Given the description of an element on the screen output the (x, y) to click on. 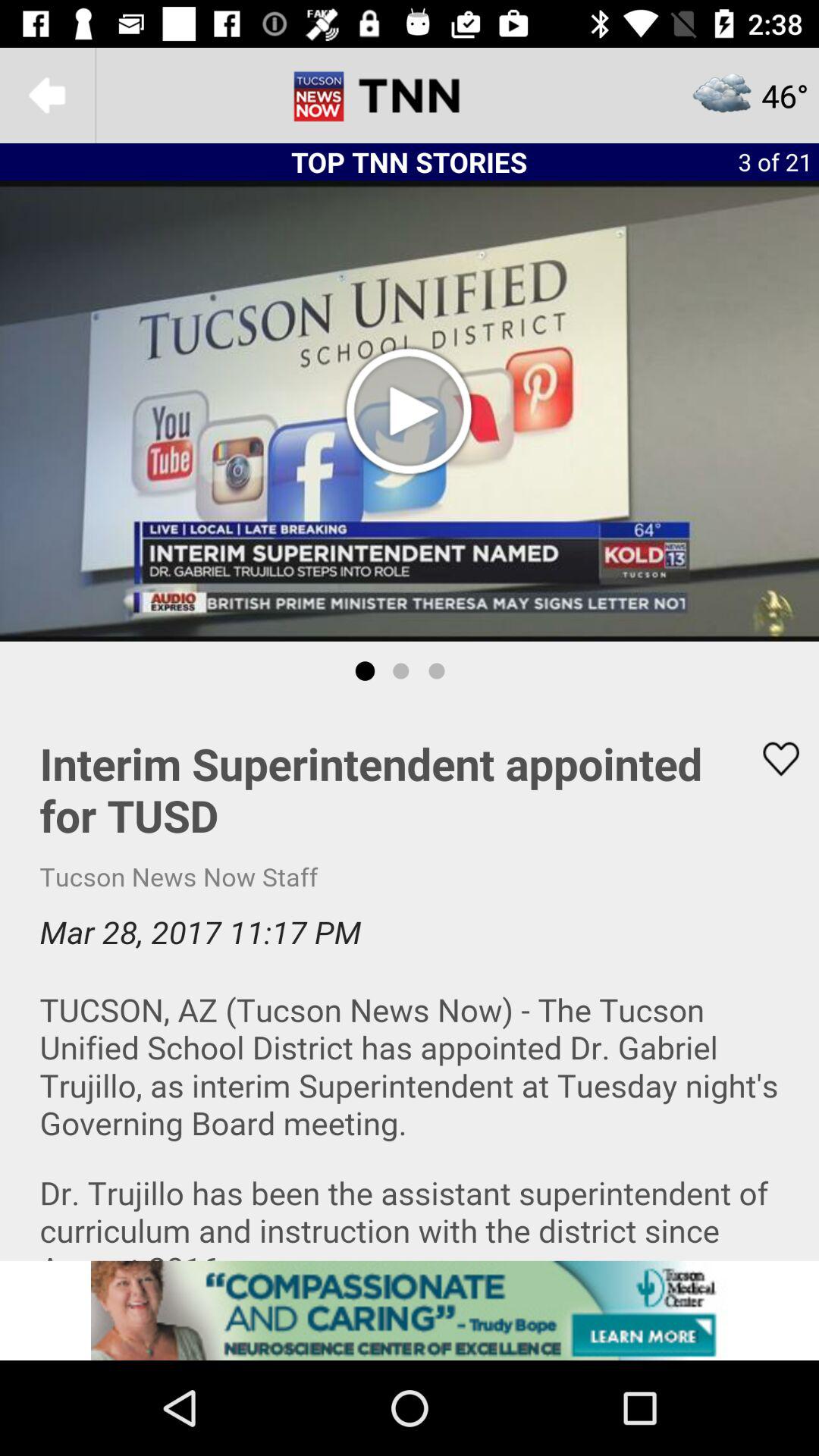
go to home (409, 95)
